Given the description of an element on the screen output the (x, y) to click on. 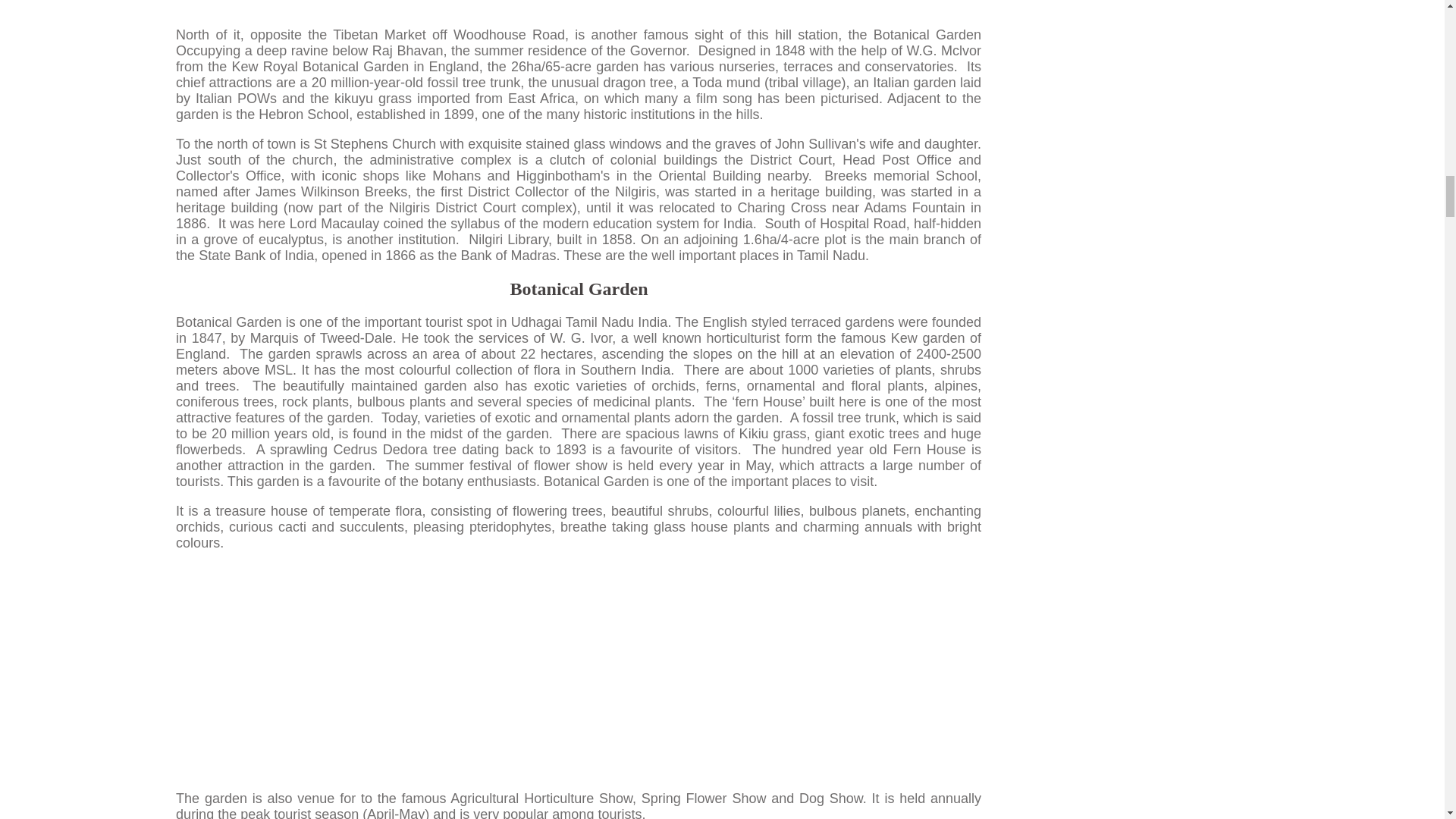
Advertisement (578, 6)
